Given the description of an element on the screen output the (x, y) to click on. 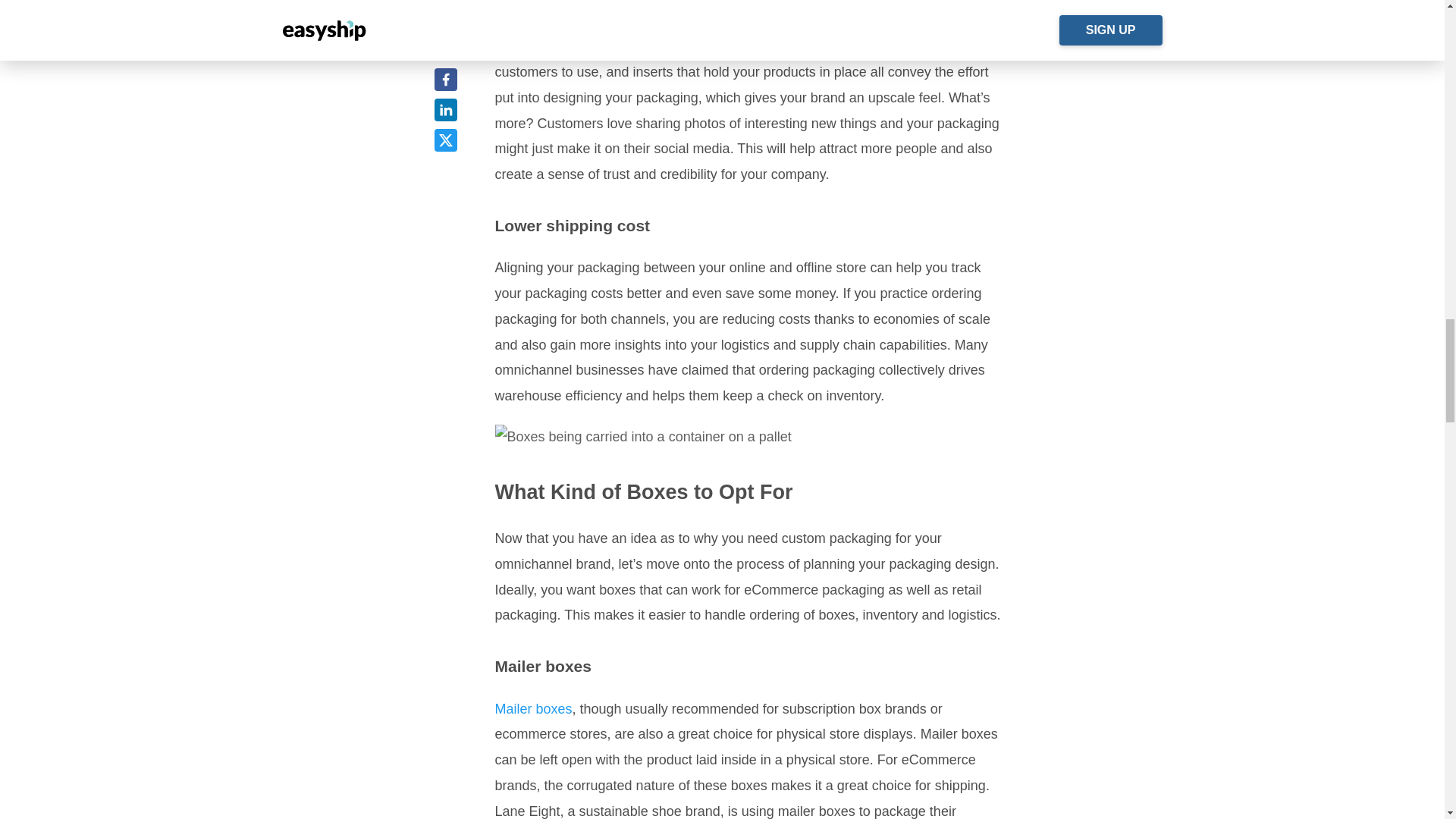
Mailer boxes (533, 708)
